Given the description of an element on the screen output the (x, y) to click on. 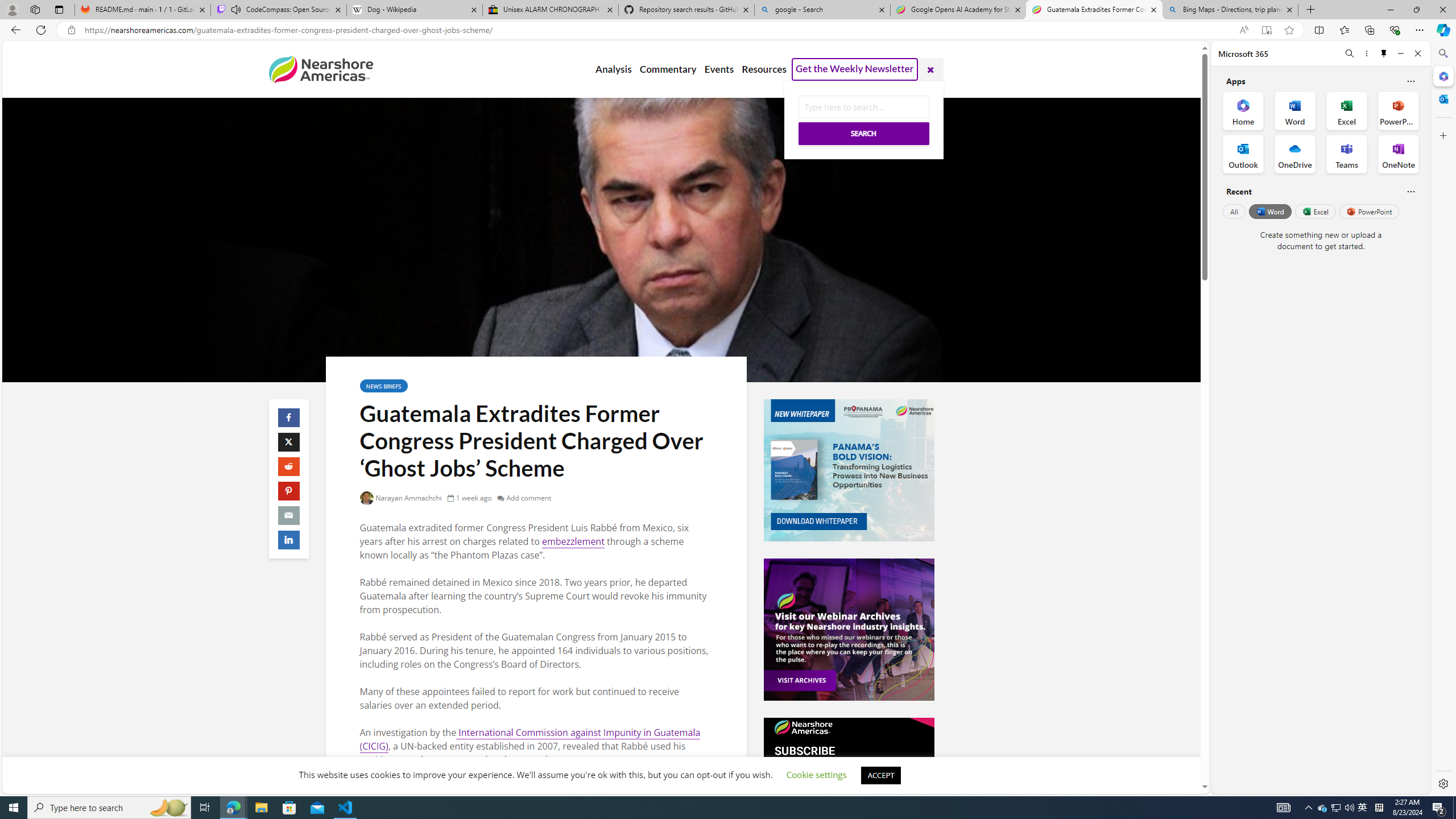
Nearshore Americas (319, 68)
Analysis (613, 69)
propanama-whitepaper_1_sidead.png (848, 470)
Events (718, 69)
Events-Banner-Ad.jpg (848, 629)
